Given the description of an element on the screen output the (x, y) to click on. 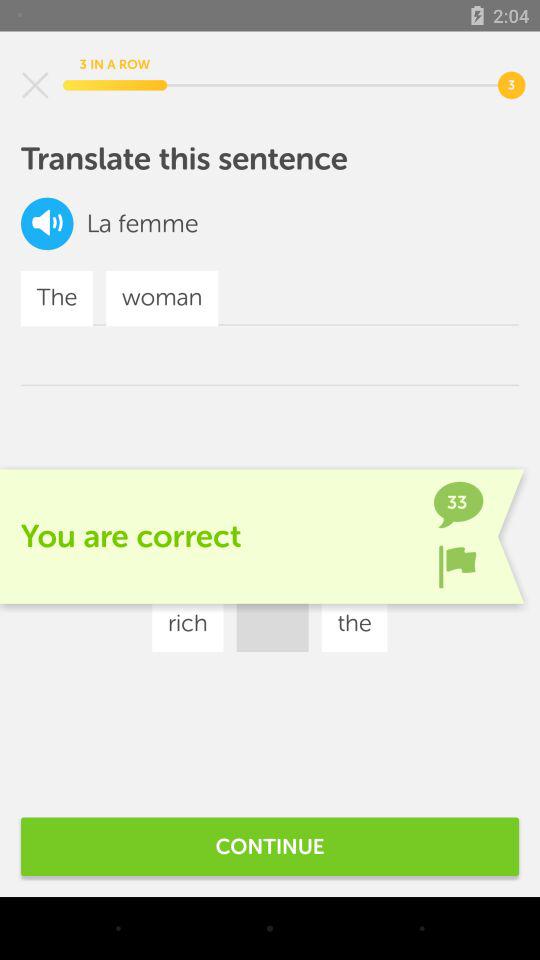
select icon above the the item (47, 223)
